Given the description of an element on the screen output the (x, y) to click on. 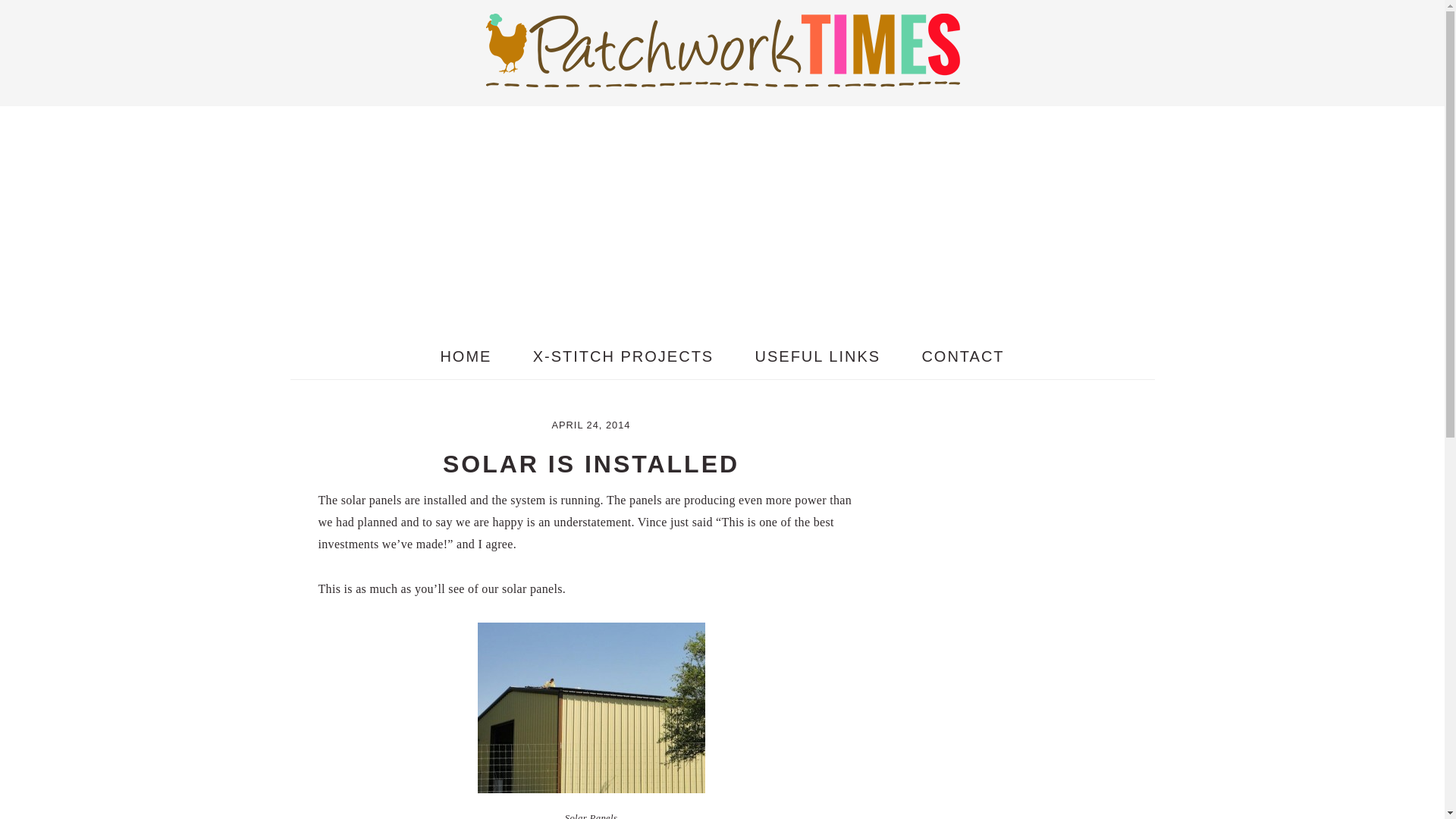
Patchwork Times by Judy Laquidara (721, 48)
CONTACT (962, 356)
HOME (465, 356)
X-STITCH PROJECTS (622, 356)
USEFUL LINKS (817, 356)
Patchwork Times by Judy Laquidara (721, 74)
